Given the description of an element on the screen output the (x, y) to click on. 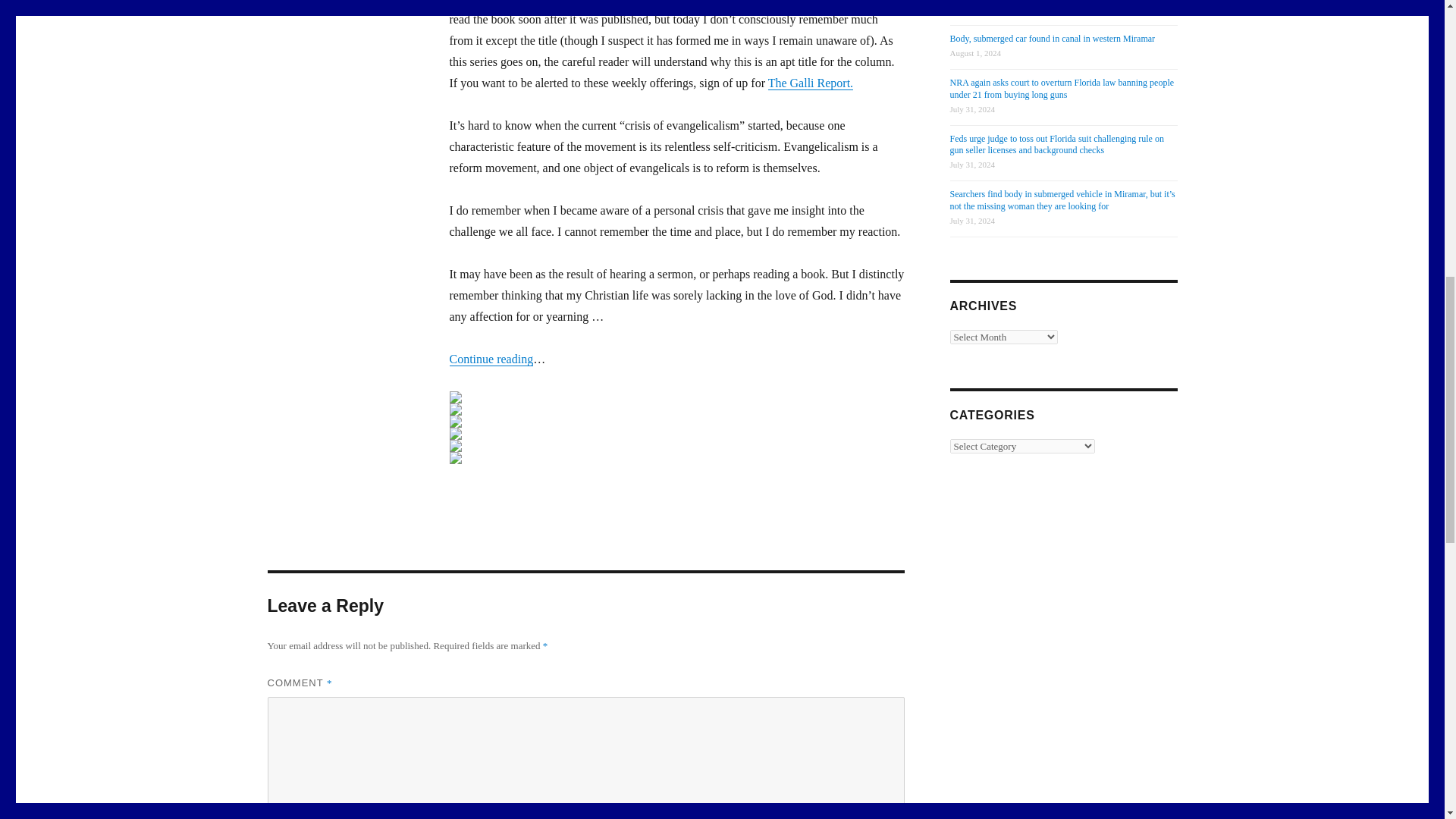
Body, submerged car found in canal in western Miramar (1051, 38)
Continue reading (490, 358)
The Galli Report. (810, 82)
